Given the description of an element on the screen output the (x, y) to click on. 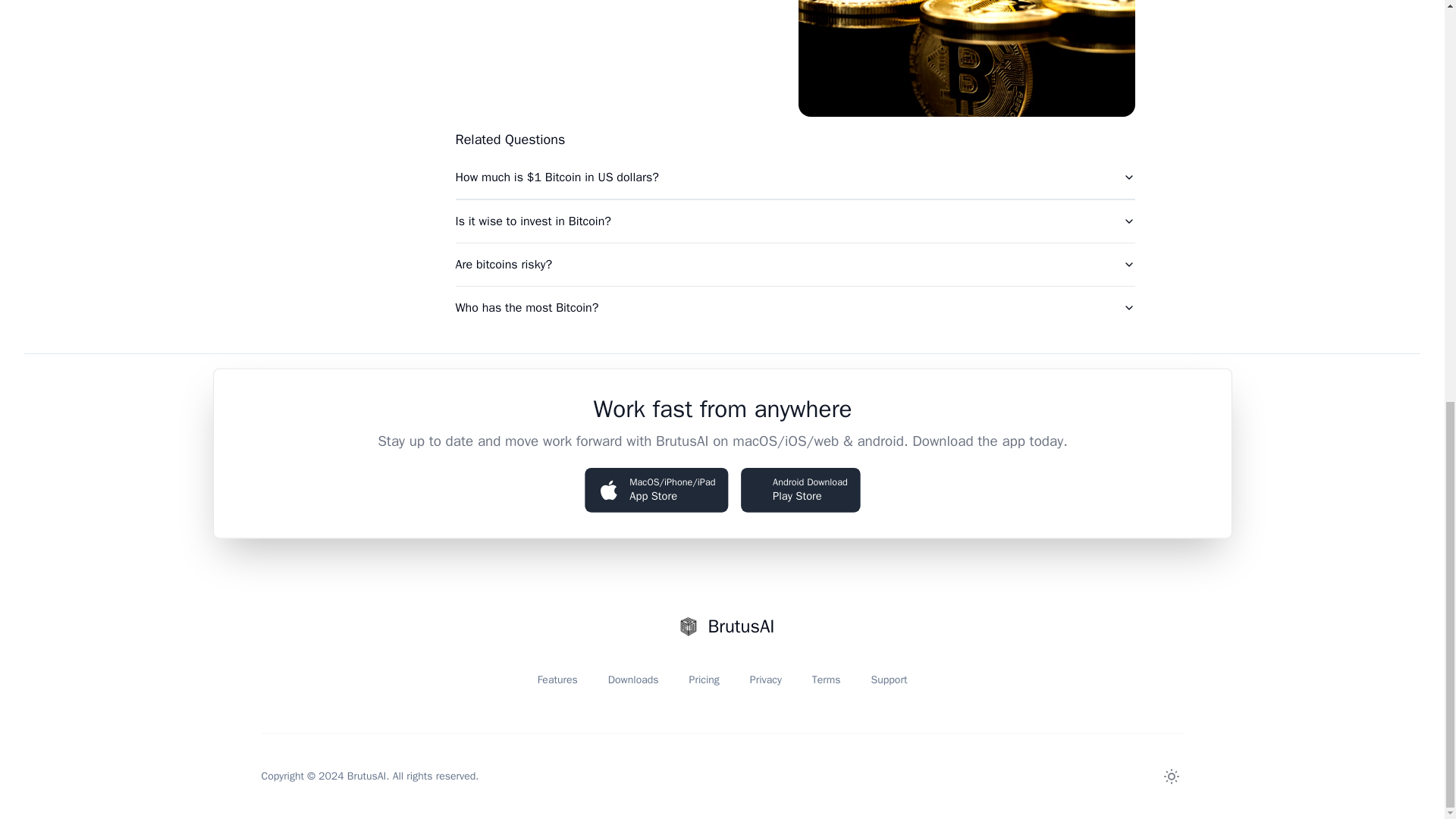
Who has the most Bitcoin? (794, 307)
Downloads (633, 679)
Toggle theme (1170, 776)
Are bitcoins risky? (794, 264)
Features (557, 679)
Pricing (703, 679)
Is it wise to invest in Bitcoin? (794, 220)
Privacy (765, 679)
Support (889, 679)
